Given the description of an element on the screen output the (x, y) to click on. 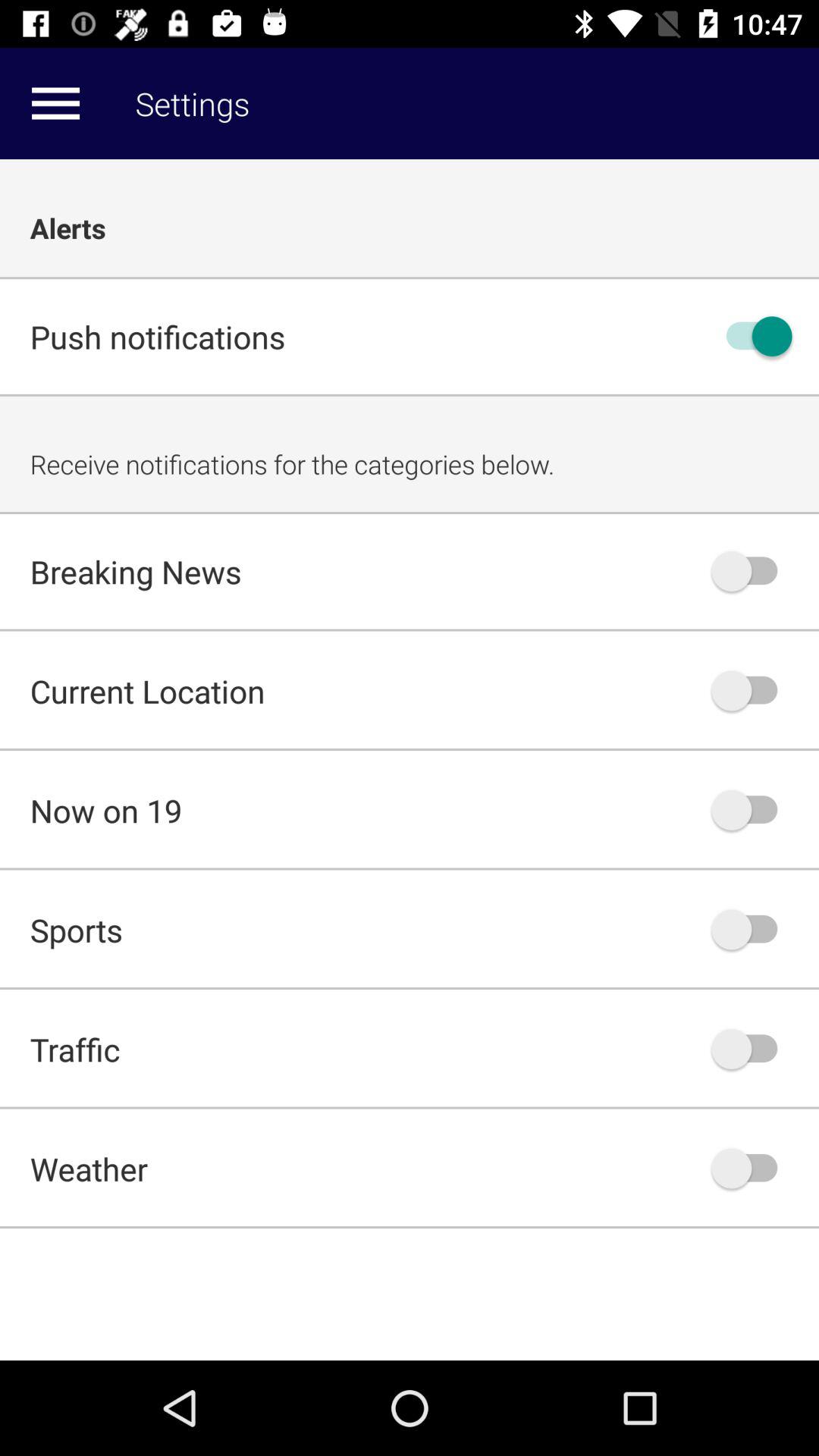
choose item next to settings item (55, 103)
